Given the description of an element on the screen output the (x, y) to click on. 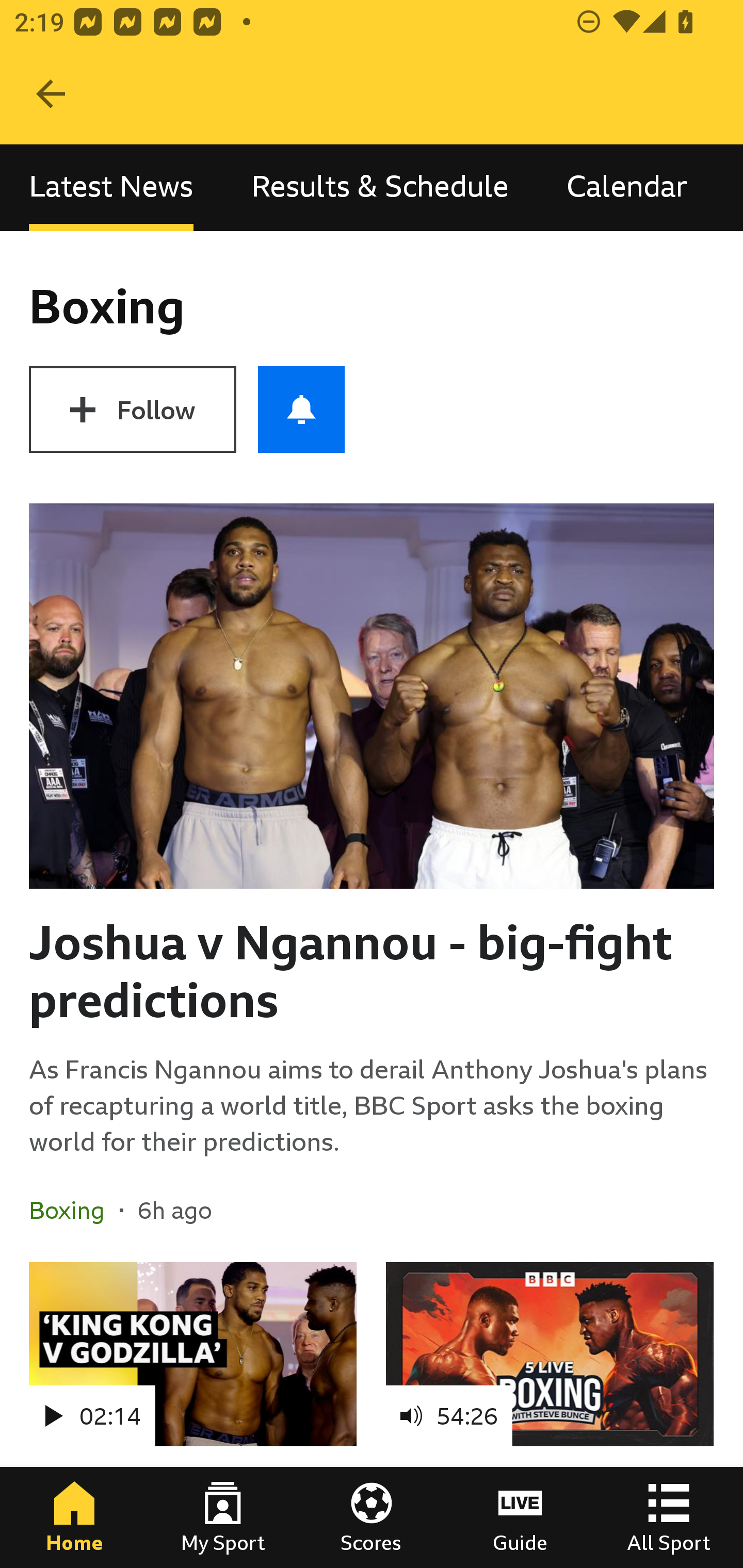
Navigate up (50, 93)
Latest News, selected Latest News (111, 187)
Results & Schedule (379, 187)
Calendar (626, 187)
Follow Boxing Follow (132, 409)
Push notifications for Boxing (300, 409)
My Sport (222, 1517)
Scores (371, 1517)
Guide (519, 1517)
All Sport (668, 1517)
